Given the description of an element on the screen output the (x, y) to click on. 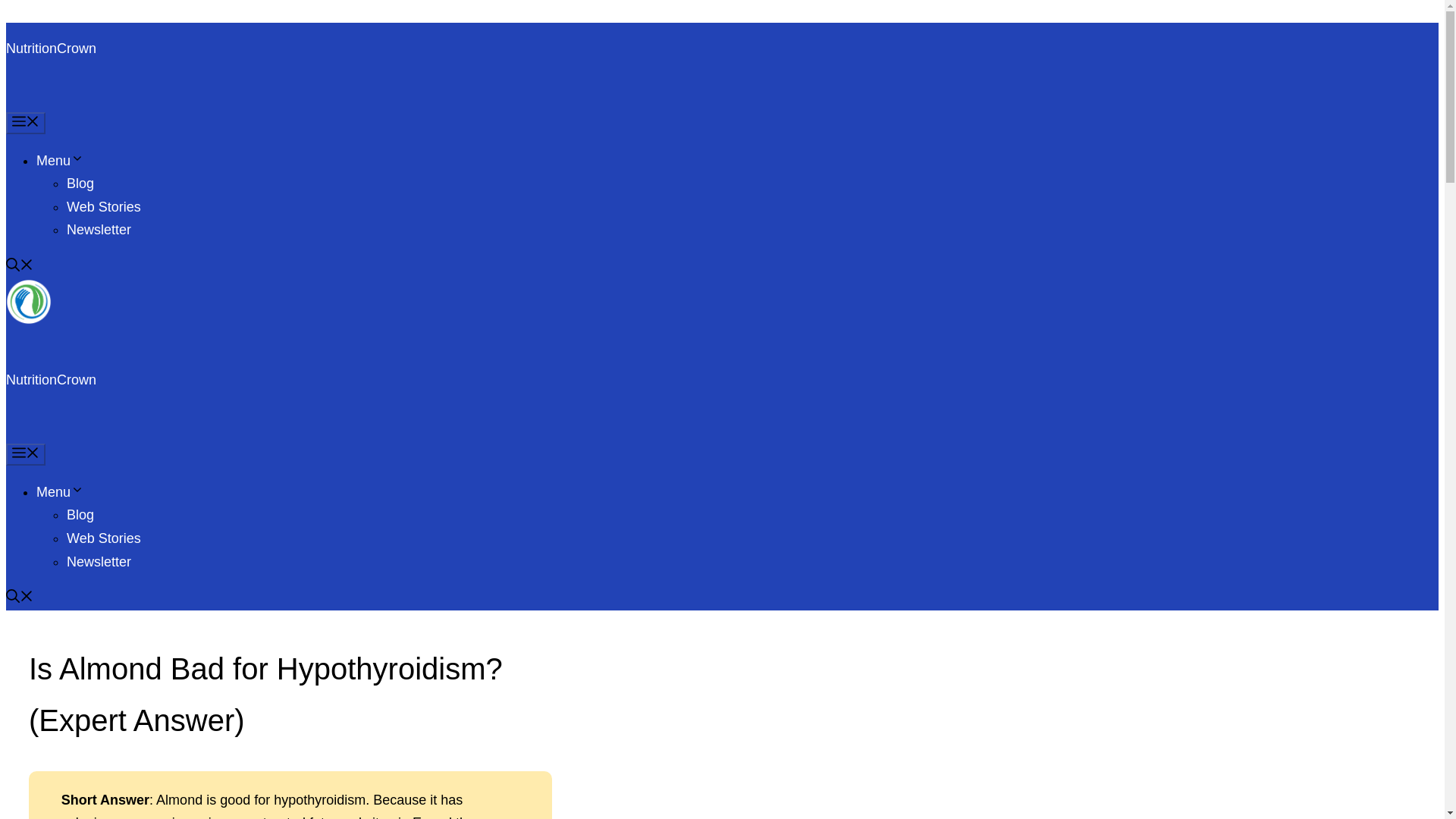
Menu (25, 123)
Menu (25, 454)
NutritionCrown (50, 48)
Blog (80, 514)
NutritionCrown (50, 379)
NutritionCrown (27, 319)
Web Stories (103, 206)
Menu (60, 160)
